Given the description of an element on the screen output the (x, y) to click on. 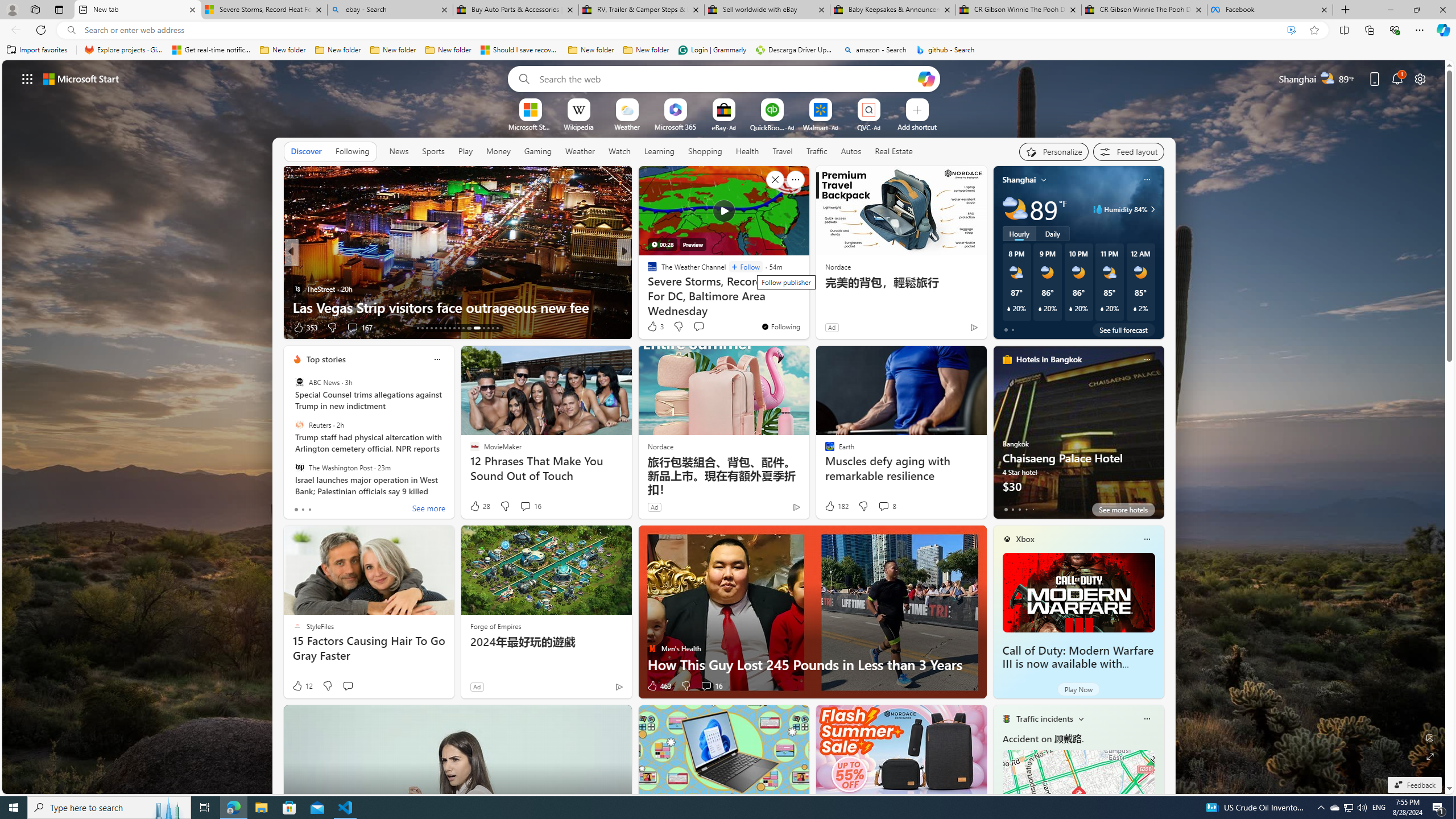
MUO (647, 288)
AutomationID: tab-20 (449, 328)
Import favorites (36, 49)
Hourly (1018, 233)
NBC News (647, 270)
To get missing image descriptions, open the context menu. (529, 109)
Class: icon-img (1146, 718)
Autos (850, 151)
AutomationID: backgroundImagePicture (723, 426)
